Given the description of an element on the screen output the (x, y) to click on. 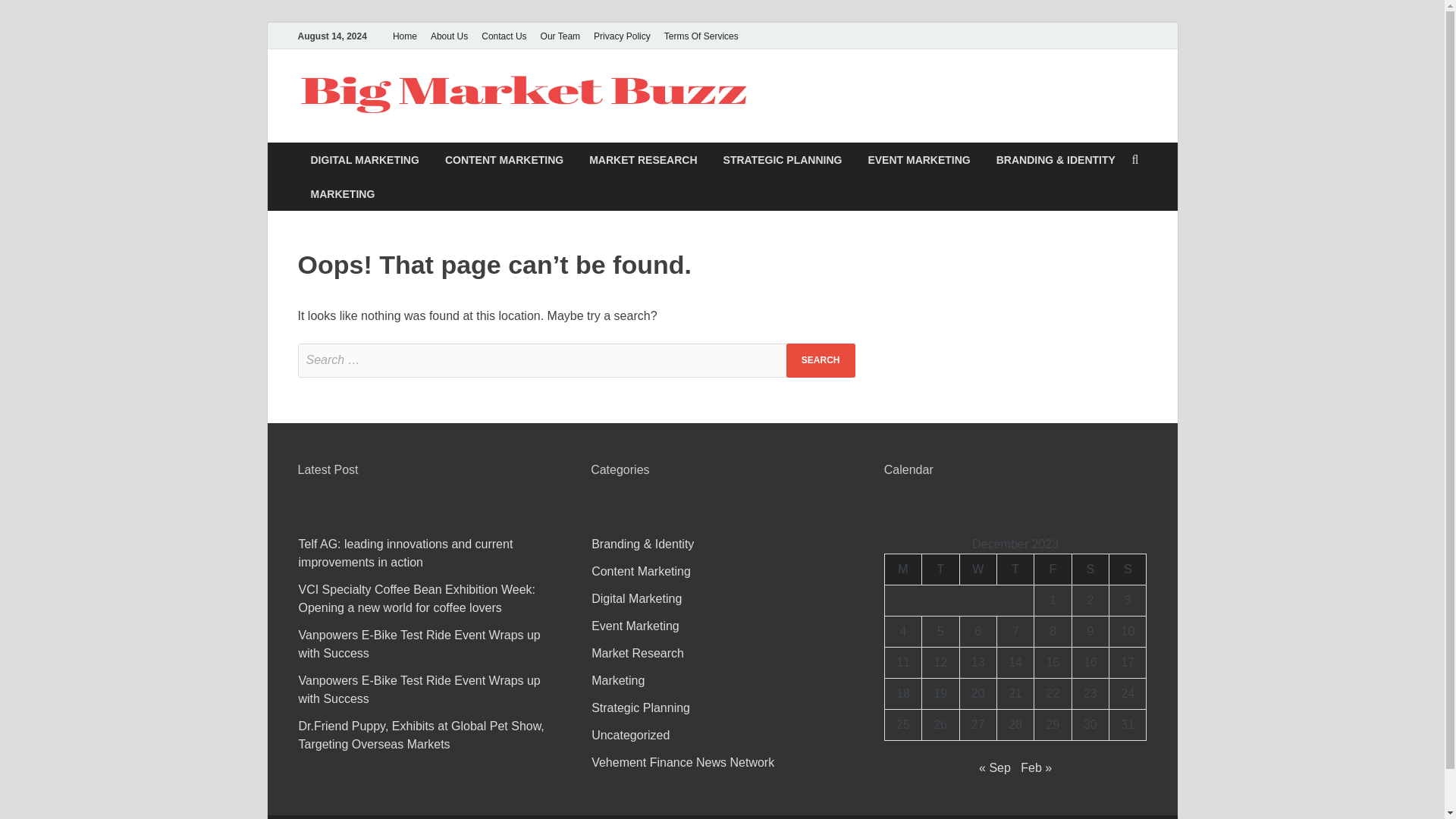
Contact Us (503, 35)
Our Team (560, 35)
About Us (448, 35)
Saturday (1089, 568)
Vanpowers E-Bike Test Ride Event Wraps up with Success (419, 689)
STRATEGIC PLANNING (783, 159)
Monday (902, 568)
Sunday (1128, 568)
CONTENT MARKETING (504, 159)
Vanpowers E-Bike Test Ride Event Wraps up with Success (419, 644)
